Given the description of an element on the screen output the (x, y) to click on. 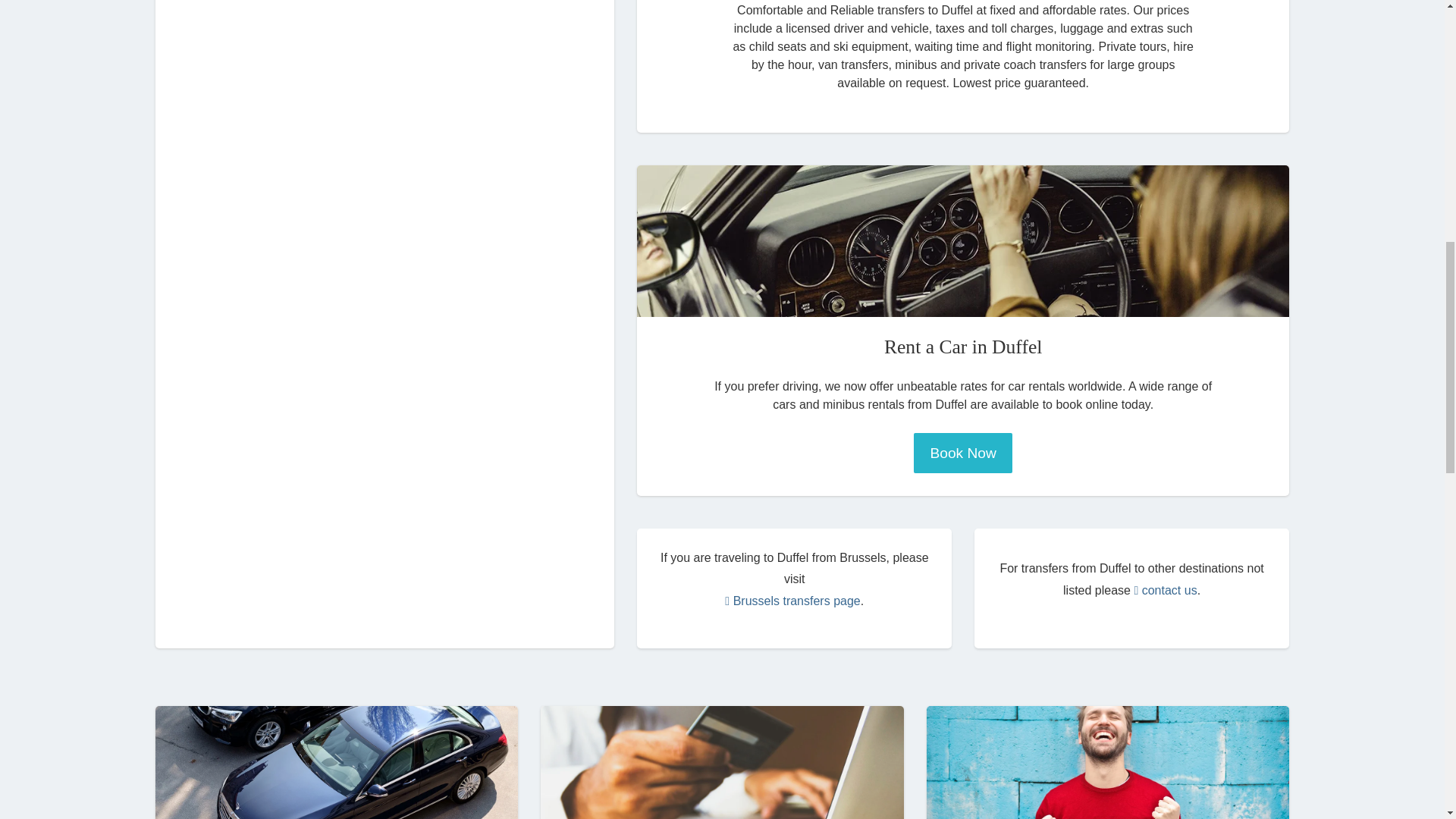
contact us (1165, 590)
Brussels transfers page (792, 600)
Book Now (962, 453)
